Given the description of an element on the screen output the (x, y) to click on. 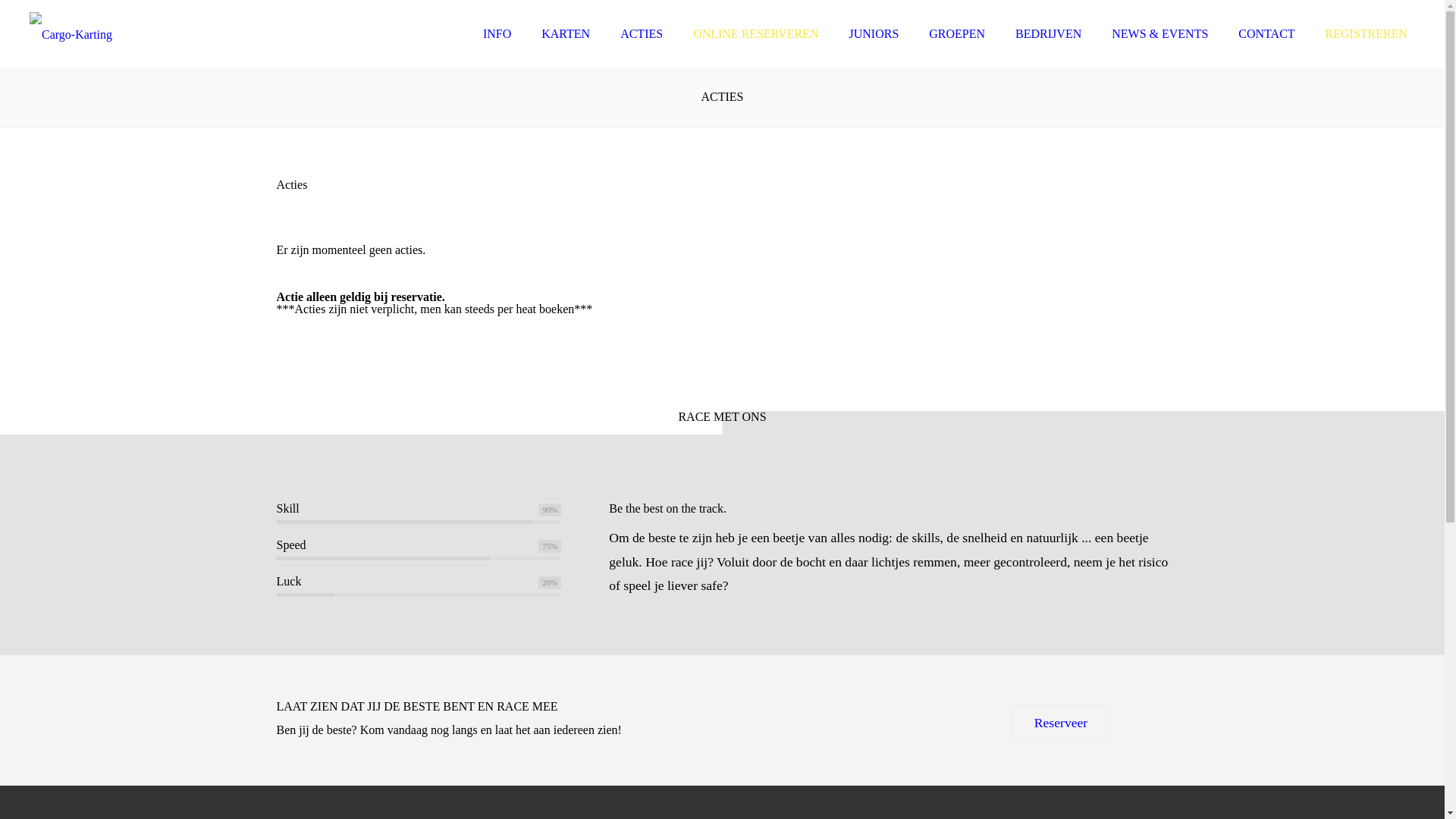
GROEPEN Element type: text (956, 34)
NEWS & EVENTS Element type: text (1159, 34)
REGISTREREN Element type: text (1366, 34)
BEDRIJVEN Element type: text (1048, 34)
CONTACT Element type: text (1266, 34)
ONLINE RESERVEREN Element type: text (755, 34)
JUNIORS Element type: text (874, 34)
ACTIES Element type: text (641, 34)
Reserveer Element type: text (1060, 722)
INFO Element type: text (496, 34)
Cargo-Karting Element type: hover (70, 34)
KARTEN Element type: text (565, 34)
